Given the description of an element on the screen output the (x, y) to click on. 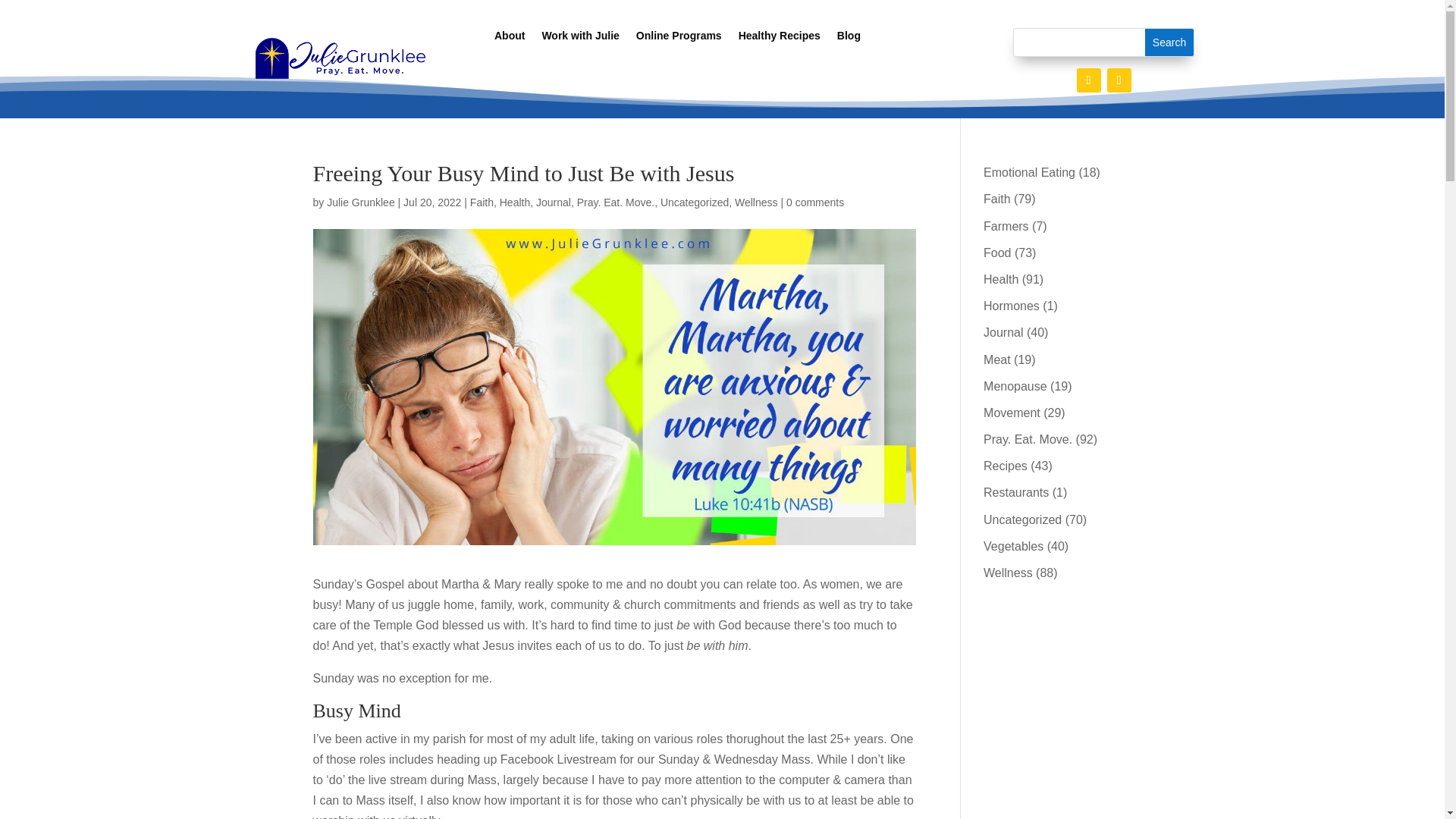
Faith (997, 198)
Recipes (1005, 465)
Work with Julie (579, 38)
Julie Grunklee (360, 202)
Meat (997, 359)
Hormones (1011, 305)
Health (1000, 278)
Faith (481, 202)
Farmers (1006, 226)
About (509, 38)
